Given the description of an element on the screen output the (x, y) to click on. 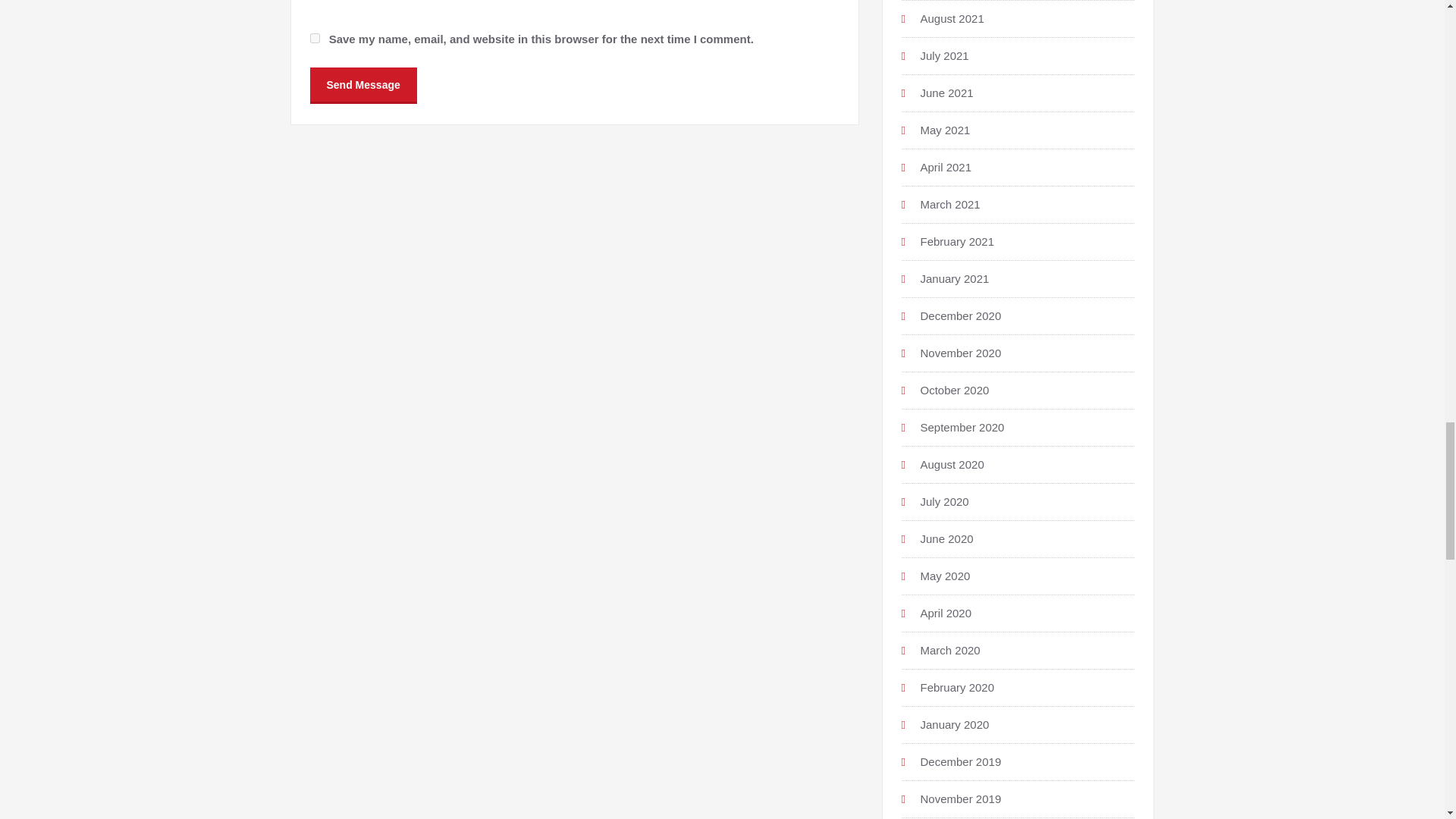
Send Message (362, 82)
Send Message (362, 84)
yes (313, 38)
